Given the description of an element on the screen output the (x, y) to click on. 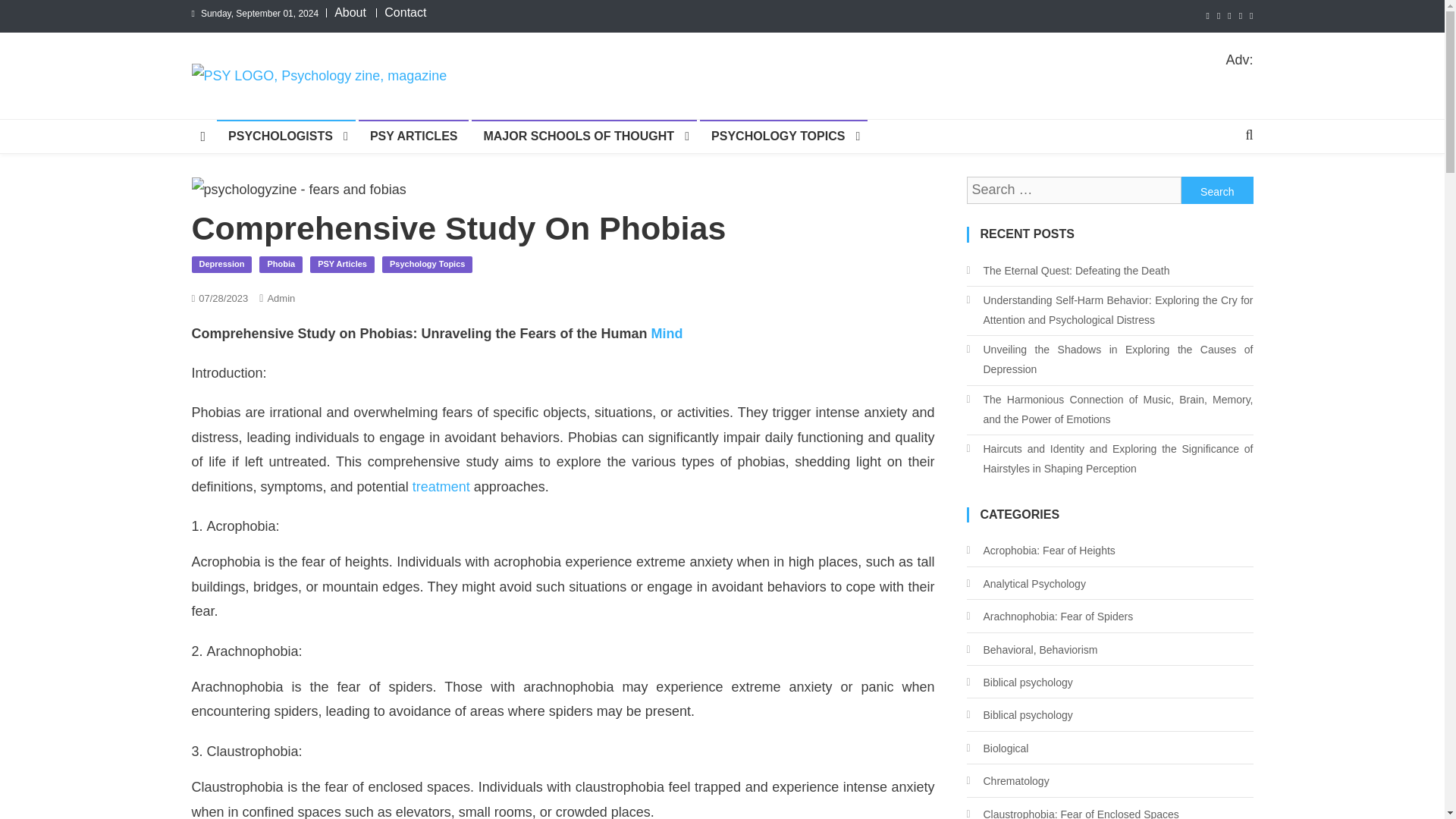
PSYCHOLOGISTS (285, 136)
Contact (405, 11)
PSY ARTICLES (413, 136)
Search (1216, 189)
About (350, 11)
PSYCHOLOGY ZINE (346, 103)
MAJOR SCHOOLS OF THOUGHT (584, 136)
PSYCHOLOGY TOPICS (783, 136)
Search (1216, 189)
